Given the description of an element on the screen output the (x, y) to click on. 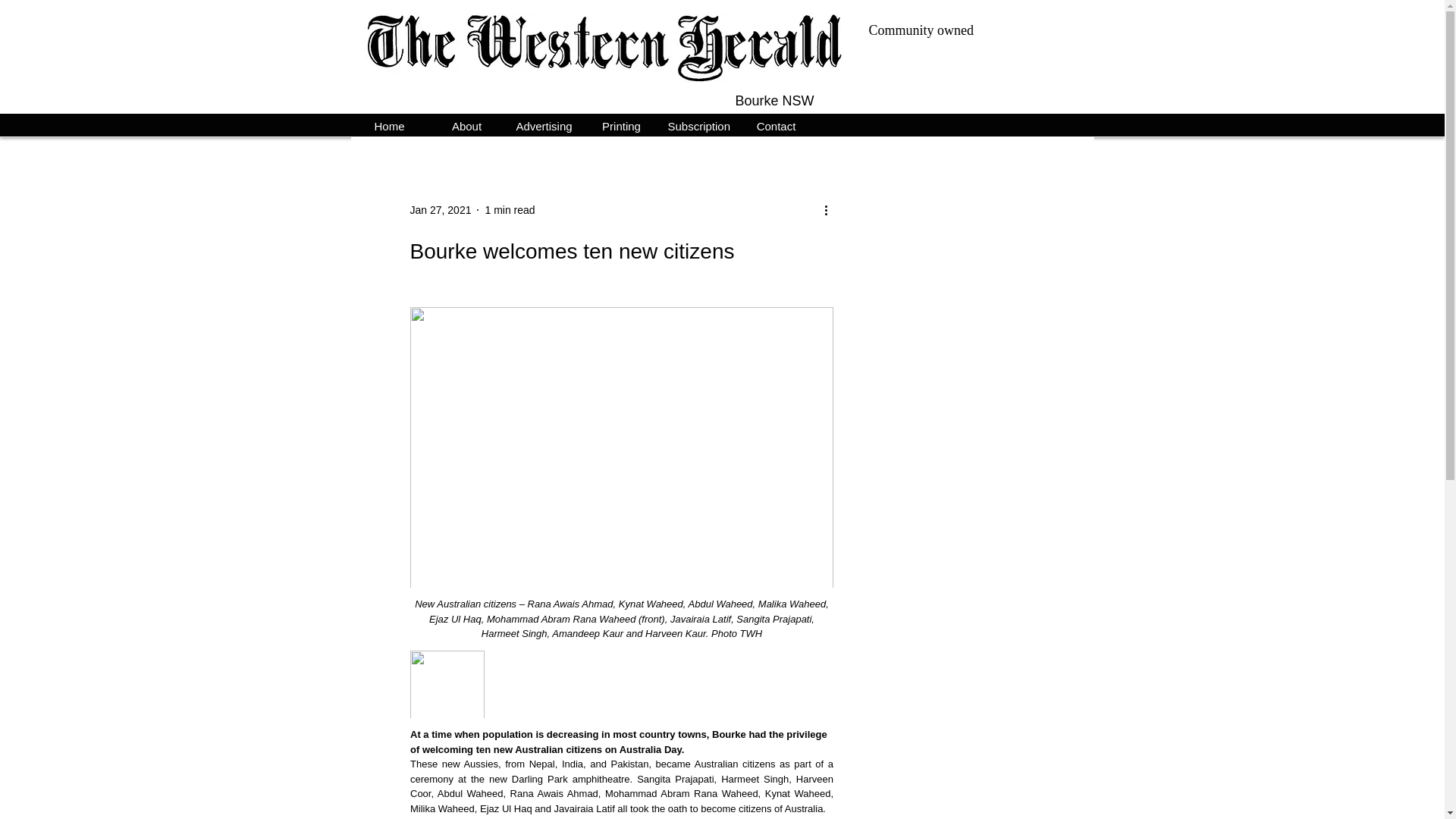
Jan 27, 2021 (439, 209)
1 min read (509, 209)
About (466, 124)
Home (389, 124)
Contact (774, 124)
Advertising (543, 124)
Subscription (697, 124)
Printing (620, 124)
